Given the description of an element on the screen output the (x, y) to click on. 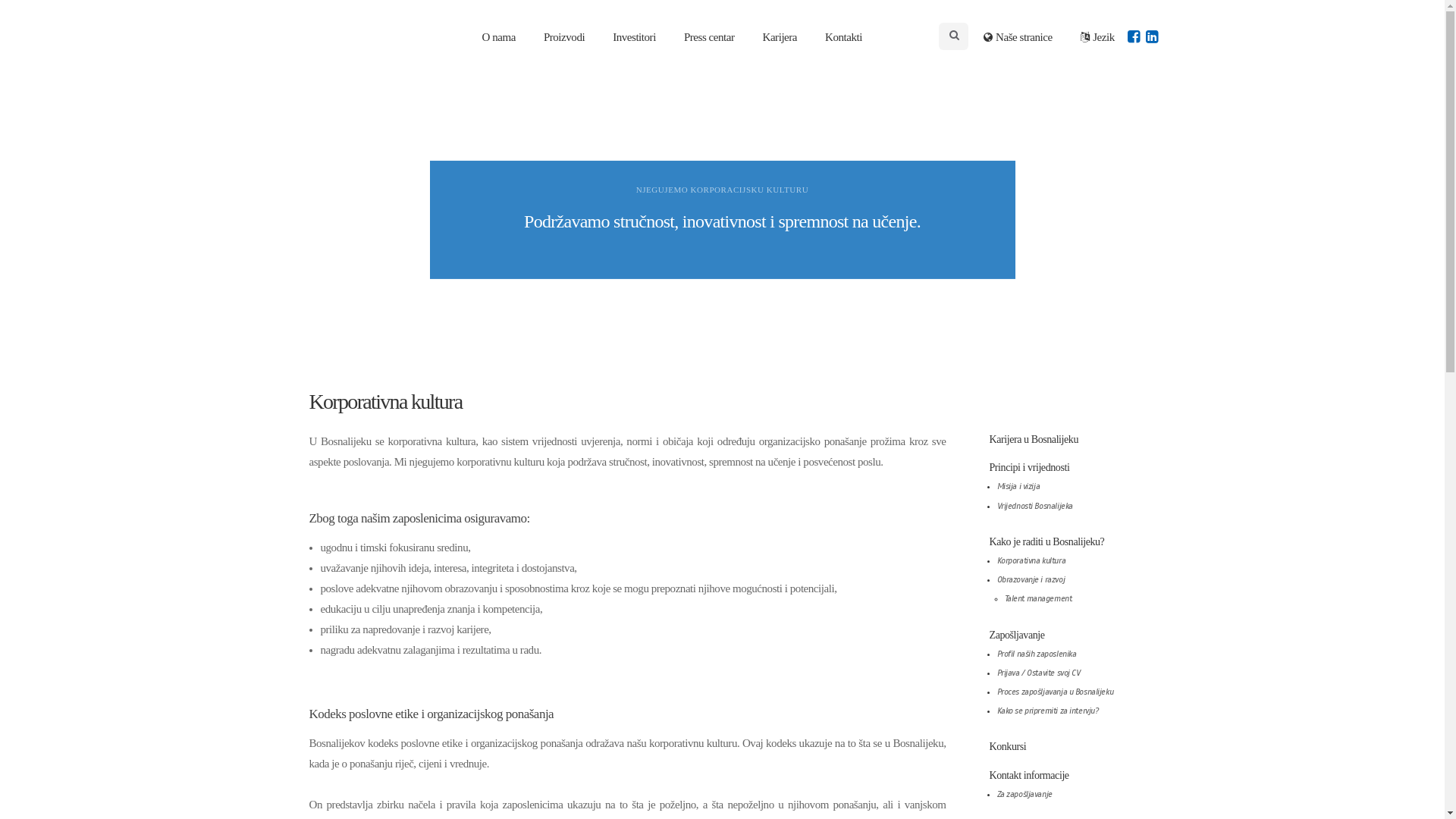
Kontakti Element type: text (843, 37)
Vrijednosti Bosnalijeka Element type: text (1034, 506)
Talent management Element type: text (1037, 598)
Press centar Element type: text (709, 37)
Kontakt informacije Element type: text (1028, 775)
Principi i vrijednosti Element type: text (1028, 467)
O nama Element type: text (498, 37)
Kako se pripremiti za intervju? Element type: text (1047, 710)
Obrazovanje i razvoj Element type: text (1030, 579)
Karijera u Bosnalijeku Element type: text (1033, 439)
Proizvodi Element type: text (563, 37)
Kako je raditi u Bosnalijeku? Element type: text (1046, 541)
Korporativna kultura Element type: text (1030, 560)
Prijava / Ostavite svoj CV Element type: text (1037, 672)
Karijera Element type: text (779, 37)
Investitori Element type: text (633, 37)
Misija i vizija Element type: text (1017, 486)
Naslovna Element type: hover (343, 36)
Konkursi Element type: text (1007, 746)
